Given the description of an element on the screen output the (x, y) to click on. 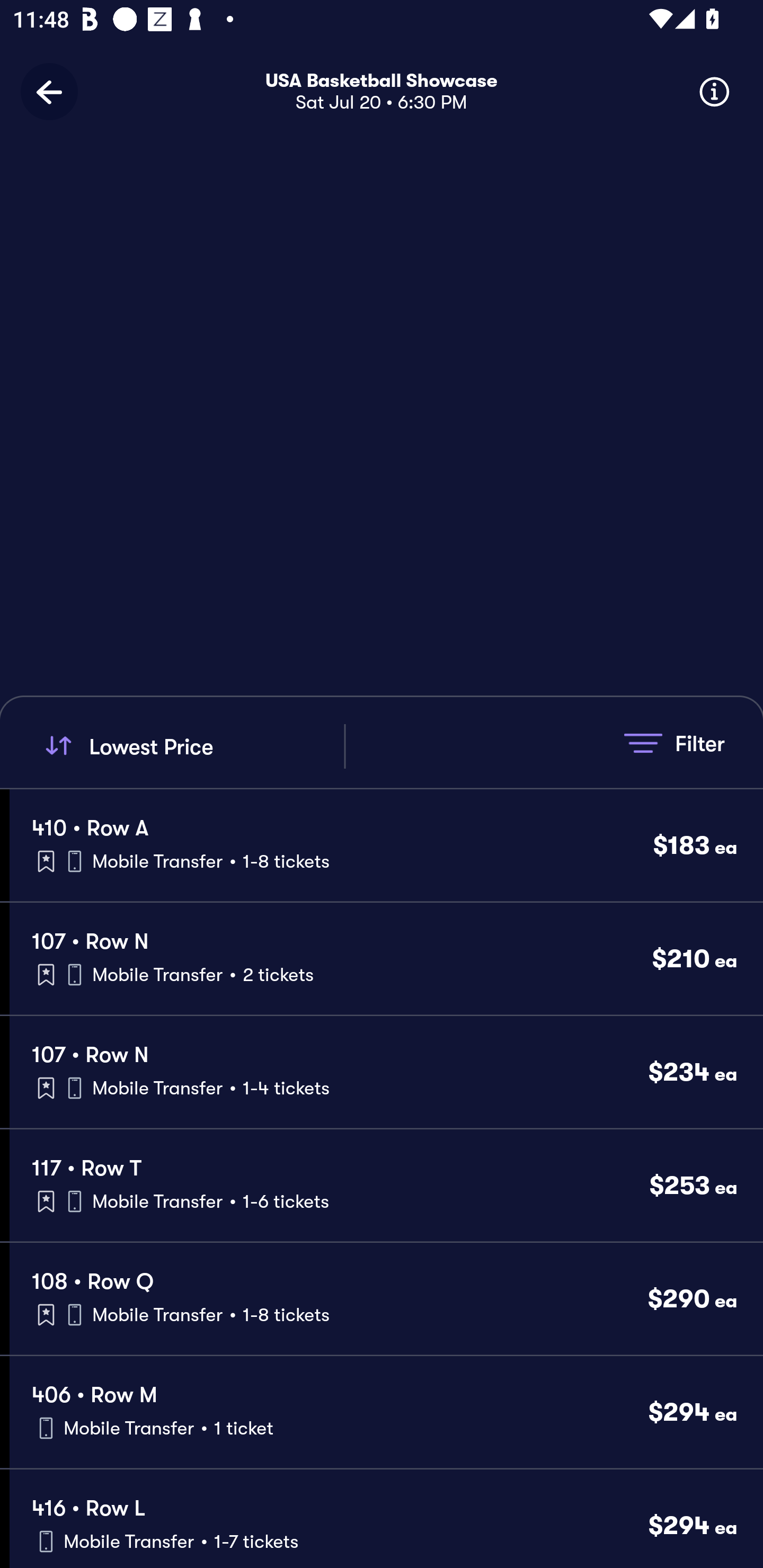
Lowest Price (191, 746)
Filter (674, 743)
410 • Row A Mobile Transfer • 1-8 tickets $183 ea (386, 844)
107 • Row N Mobile Transfer • 2 tickets $210 ea (386, 958)
107 • Row N Mobile Transfer • 1-4 tickets $234 ea (386, 1071)
117 • Row T Mobile Transfer • 1-6 tickets $253 ea (386, 1184)
108 • Row Q Mobile Transfer • 1-8 tickets $290 ea (386, 1298)
406 • Row M Mobile Transfer • 1 ticket $294 ea (386, 1411)
416 • Row L Mobile Transfer • 1-7 tickets $294 ea (386, 1518)
